Given the description of an element on the screen output the (x, y) to click on. 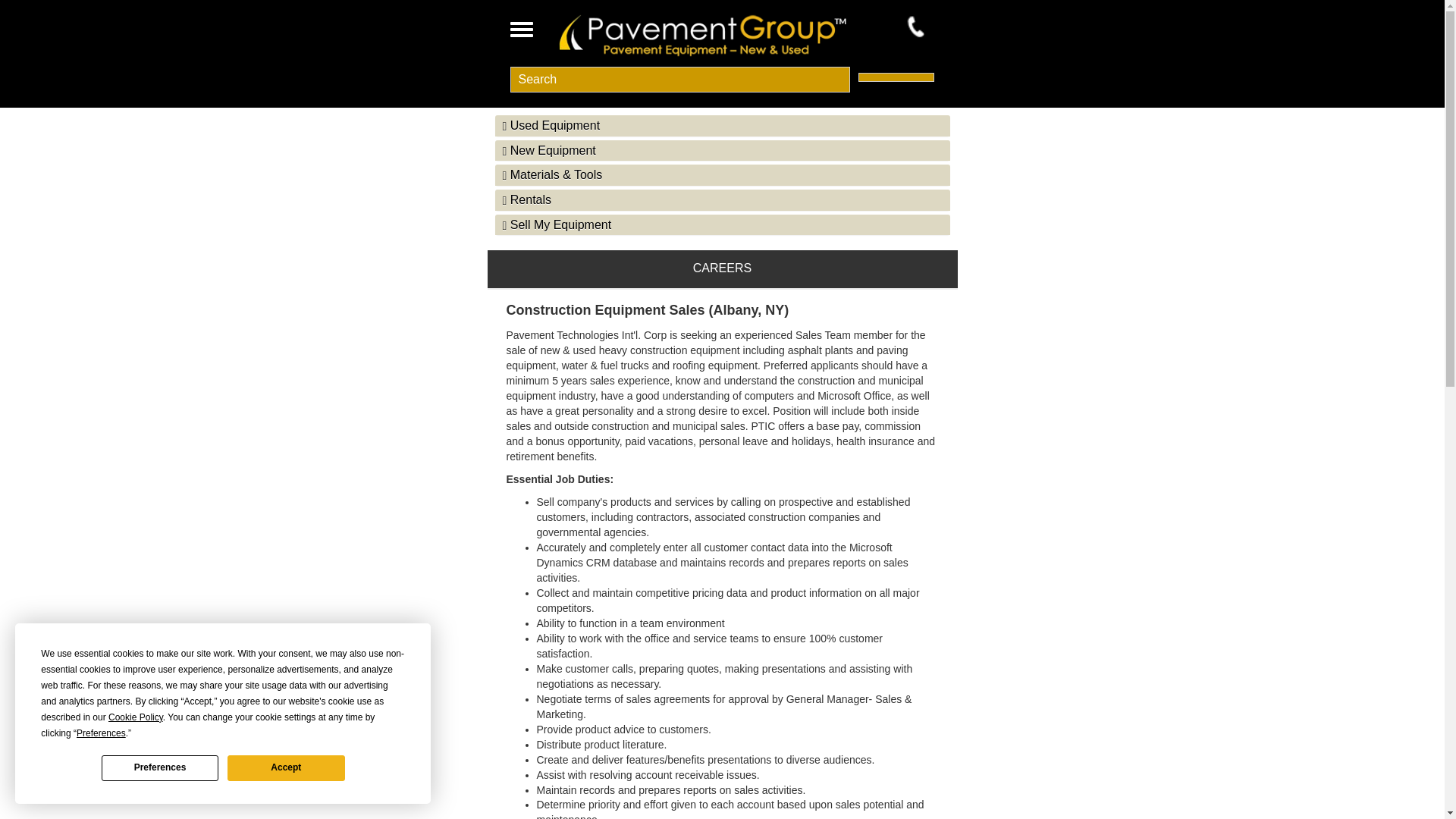
Toggle navigation (521, 29)
Accept (285, 768)
Search (678, 79)
Preferences (159, 768)
